Given the description of an element on the screen output the (x, y) to click on. 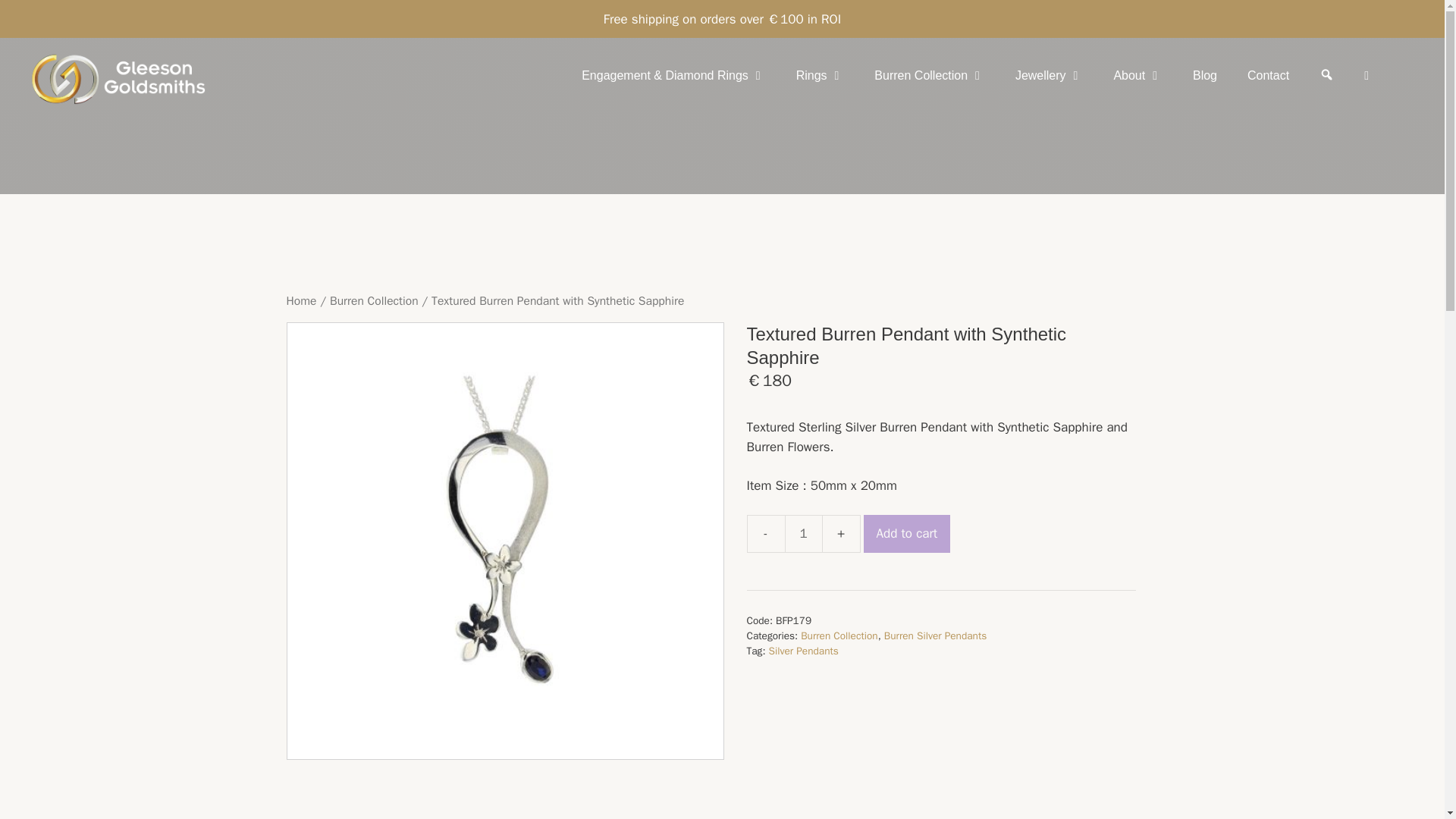
1 (803, 533)
Rings (820, 75)
Jewellery (1048, 75)
About (1137, 75)
Burren Collection (929, 75)
